Given the description of an element on the screen output the (x, y) to click on. 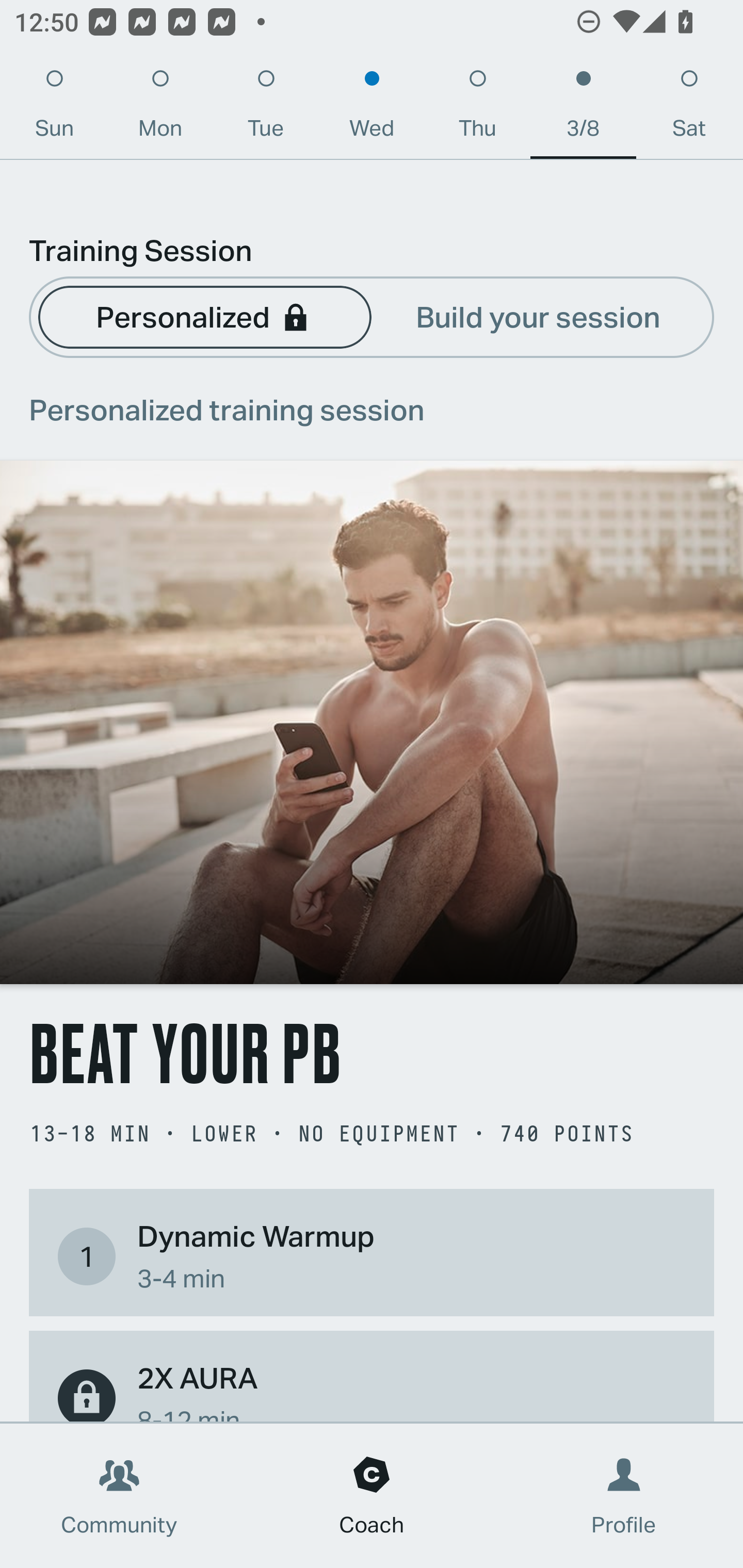
Sun (53, 108)
Mon (159, 108)
Tue (265, 108)
Wed (371, 108)
Thu (477, 108)
3/8 (583, 108)
Sat (689, 108)
Personalized (204, 315)
Build your session (538, 315)
1 Dynamic Warmup 3-4 min (371, 1256)
2X AURA 8-12 min (371, 1388)
Community (119, 1495)
Profile (624, 1495)
